Given the description of an element on the screen output the (x, y) to click on. 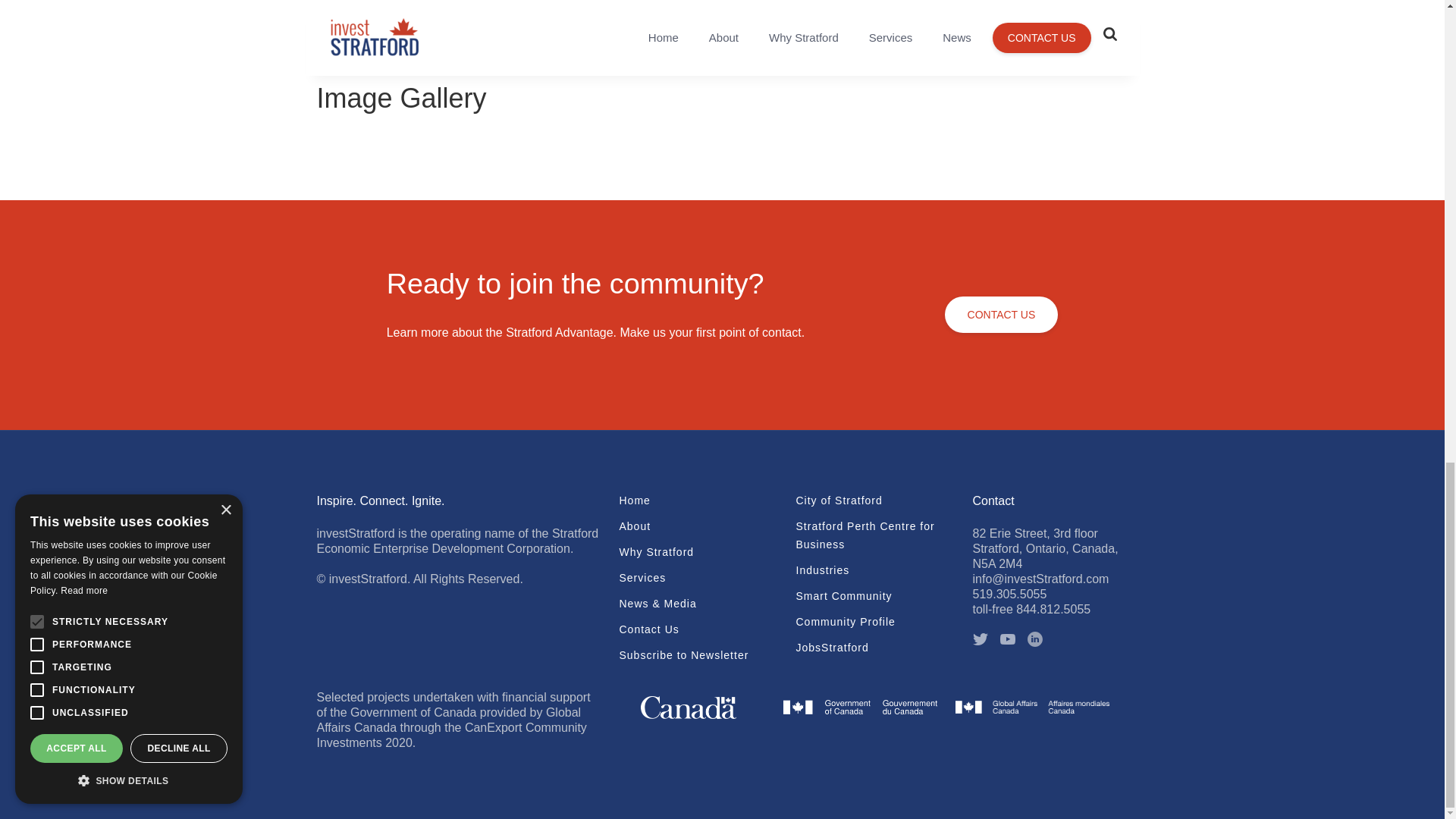
Why Stratford (697, 551)
Home (697, 500)
Services (697, 577)
About (697, 525)
CONTACT US (1001, 314)
Subscribe to Newsletter (697, 655)
Contact Us (697, 628)
